Given the description of an element on the screen output the (x, y) to click on. 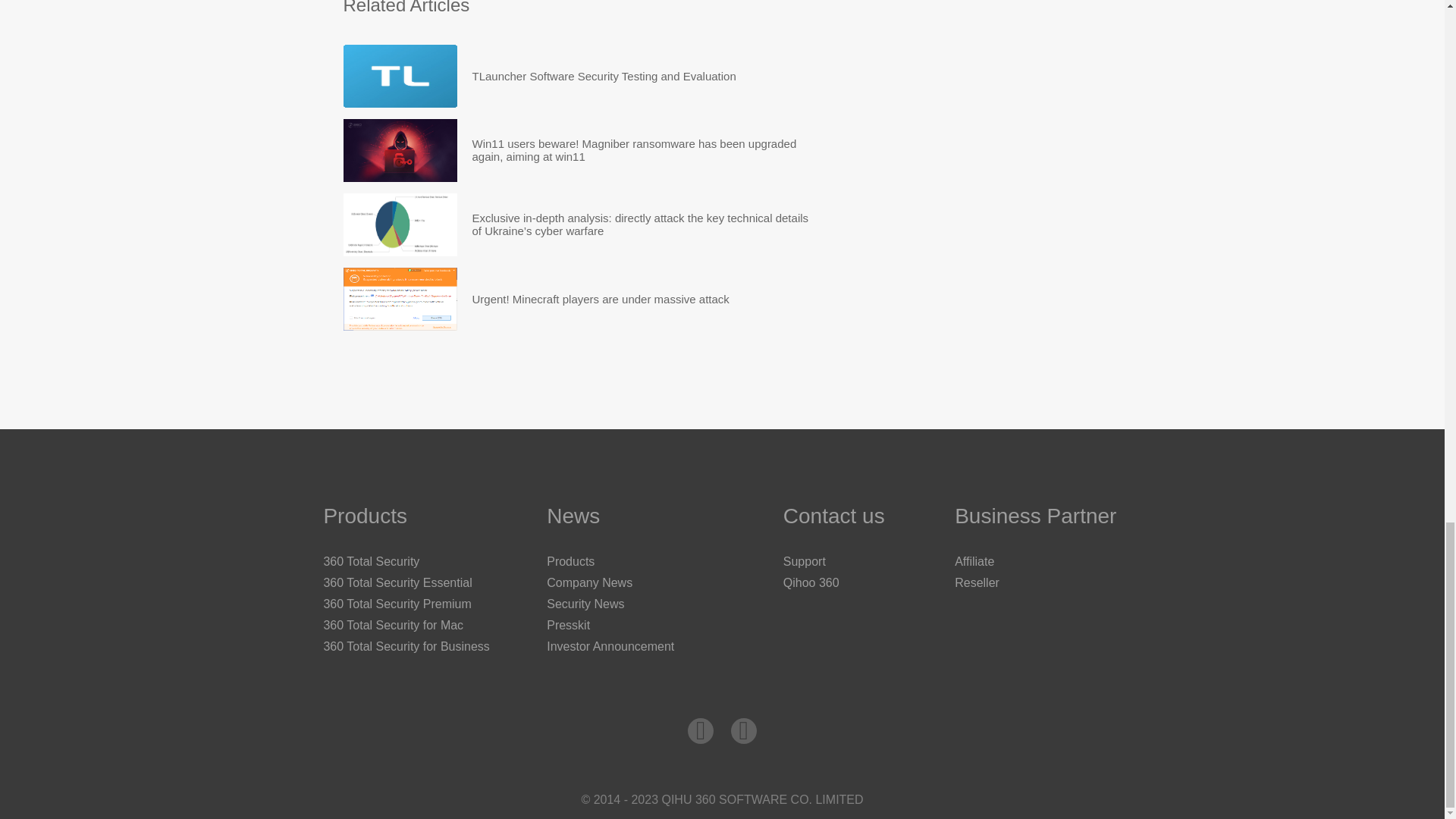
360 Total Security Essential (397, 582)
Urgent! Minecraft players are under massive attack (600, 298)
TLauncher Software Security Testing and Evaluation (399, 76)
TLauncher Software Security Testing and Evaluation (603, 76)
Urgent! Minecraft players are under massive attack (399, 298)
Urgent! Minecraft players are under massive attack (600, 298)
360 Total Security (371, 561)
TLauncher Software Security Testing and Evaluation (603, 76)
